Given the description of an element on the screen output the (x, y) to click on. 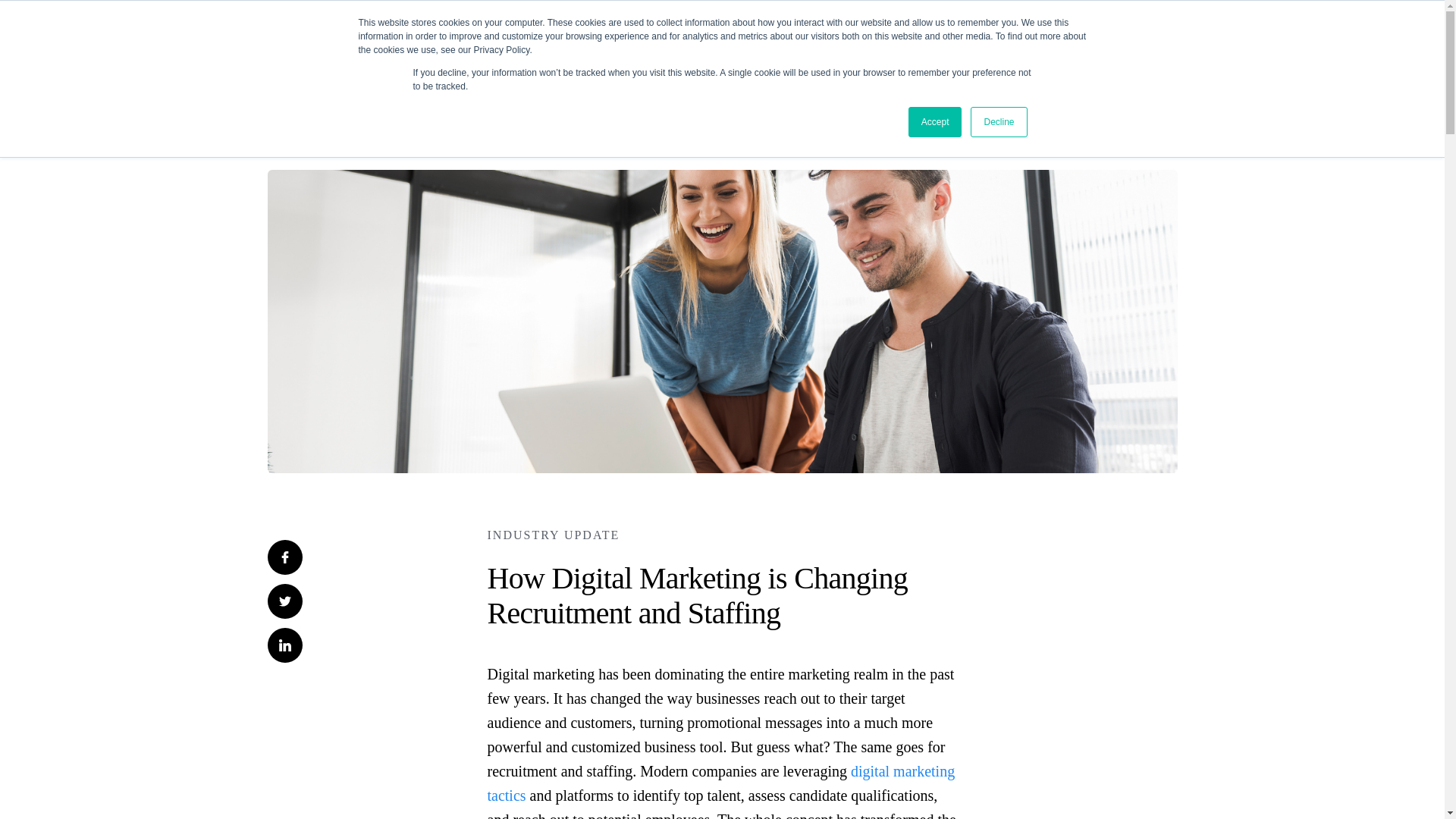
Pricing (800, 42)
Products (598, 42)
Get Started (1281, 41)
Blog (701, 42)
Sign In (1382, 42)
digital marketing tactics (720, 782)
Get Started (1284, 42)
All Posts (297, 141)
Accept (935, 122)
Decline (998, 122)
